Given the description of an element on the screen output the (x, y) to click on. 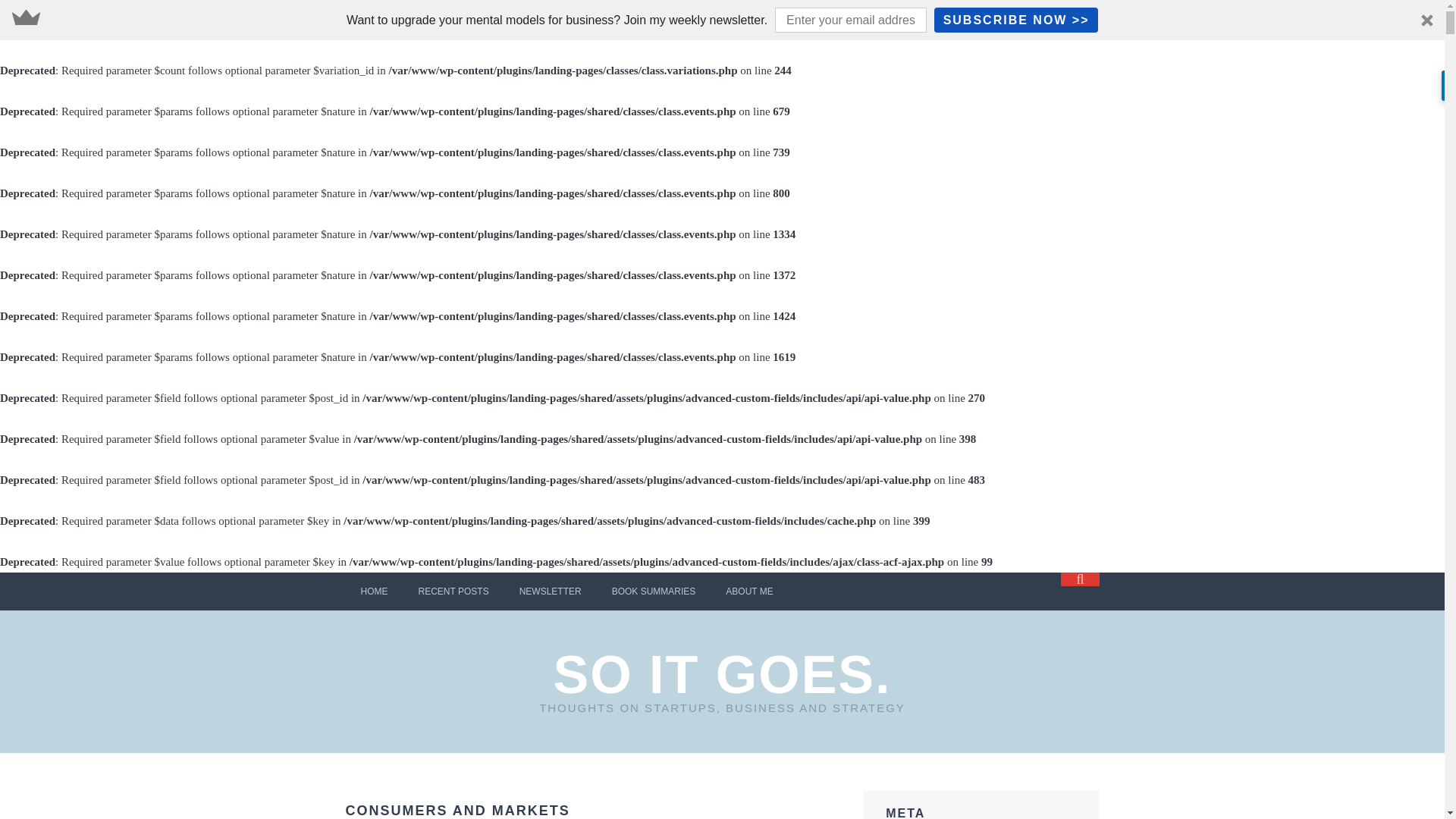
NEWSLETTER (549, 591)
HOME (374, 591)
BOOK SUMMARIES (653, 591)
SO IT GOES. (722, 674)
ABOUT ME (748, 591)
RECENT POSTS (453, 591)
